Given the description of an element on the screen output the (x, y) to click on. 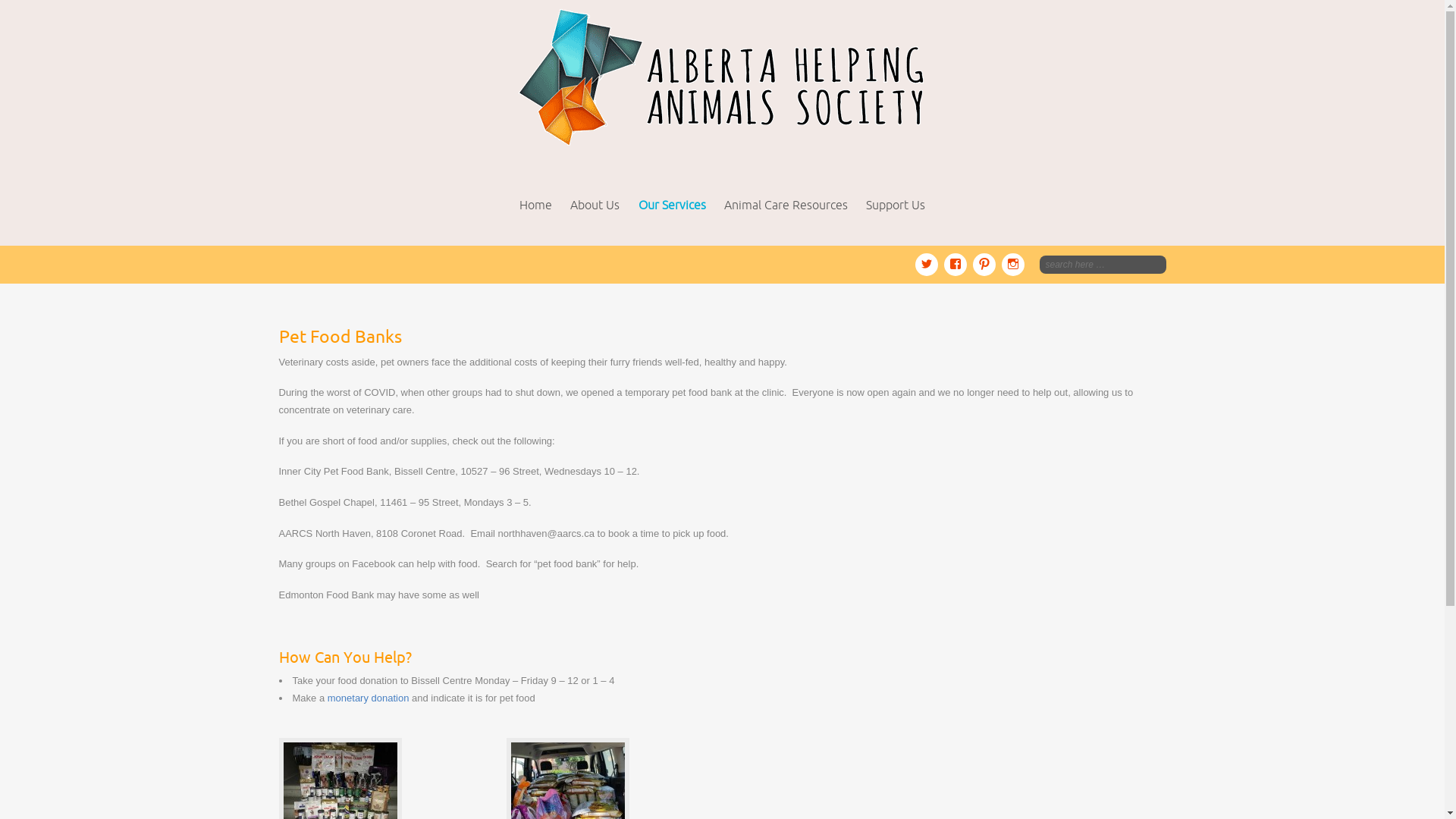
monetary donation Element type: text (368, 697)
Pinterest Element type: hover (986, 261)
Home Element type: text (535, 204)
Instagram Element type: hover (1012, 261)
Twitter Element type: hover (928, 261)
Our Services Element type: text (672, 204)
Support Us Element type: text (895, 204)
AHAS Element type: hover (721, 78)
Facebook Element type: hover (957, 261)
About Us Element type: text (594, 204)
Animal Care Resources Element type: text (785, 204)
